Given the description of an element on the screen output the (x, y) to click on. 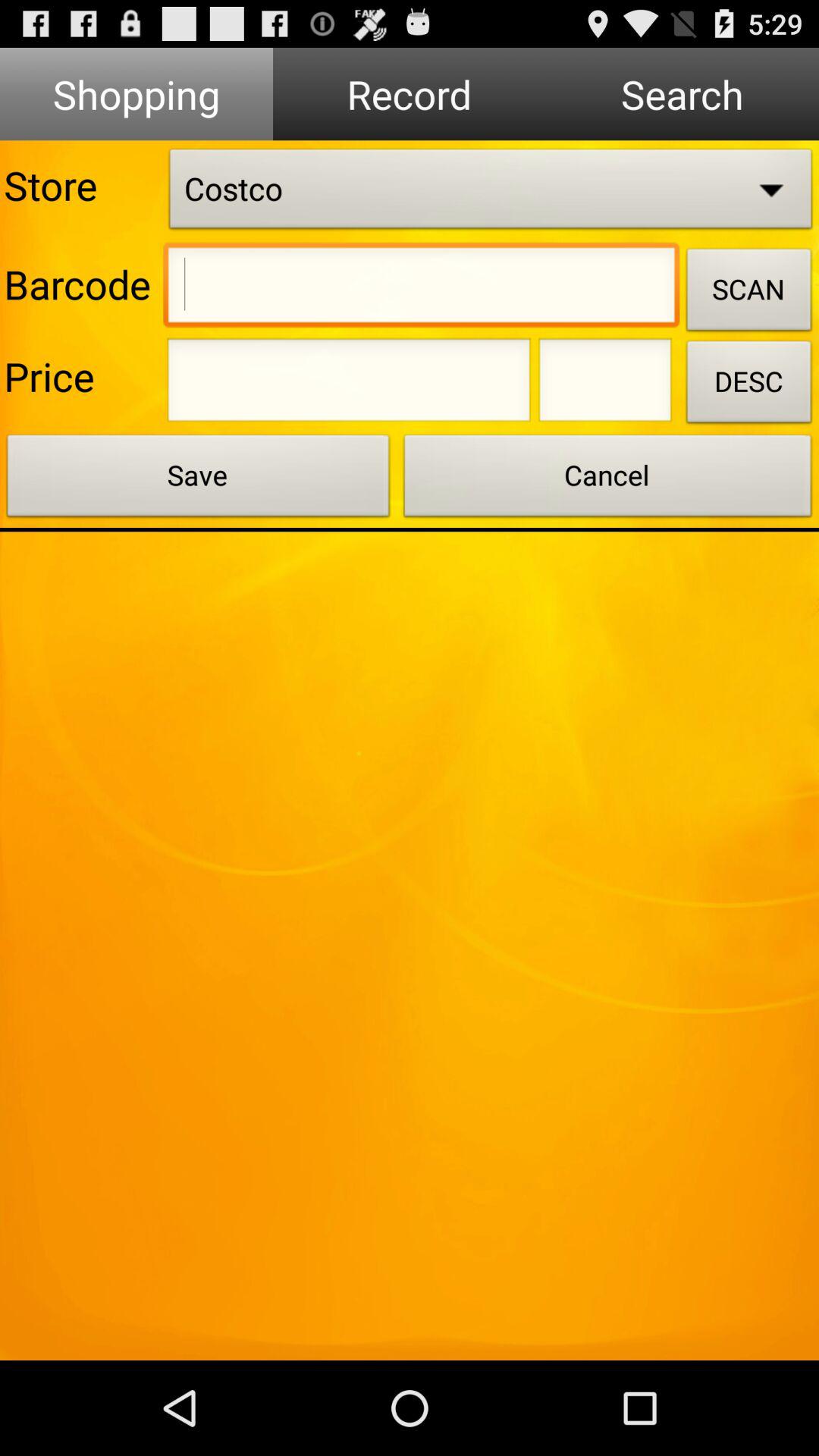
insert the barcode (421, 288)
